Given the description of an element on the screen output the (x, y) to click on. 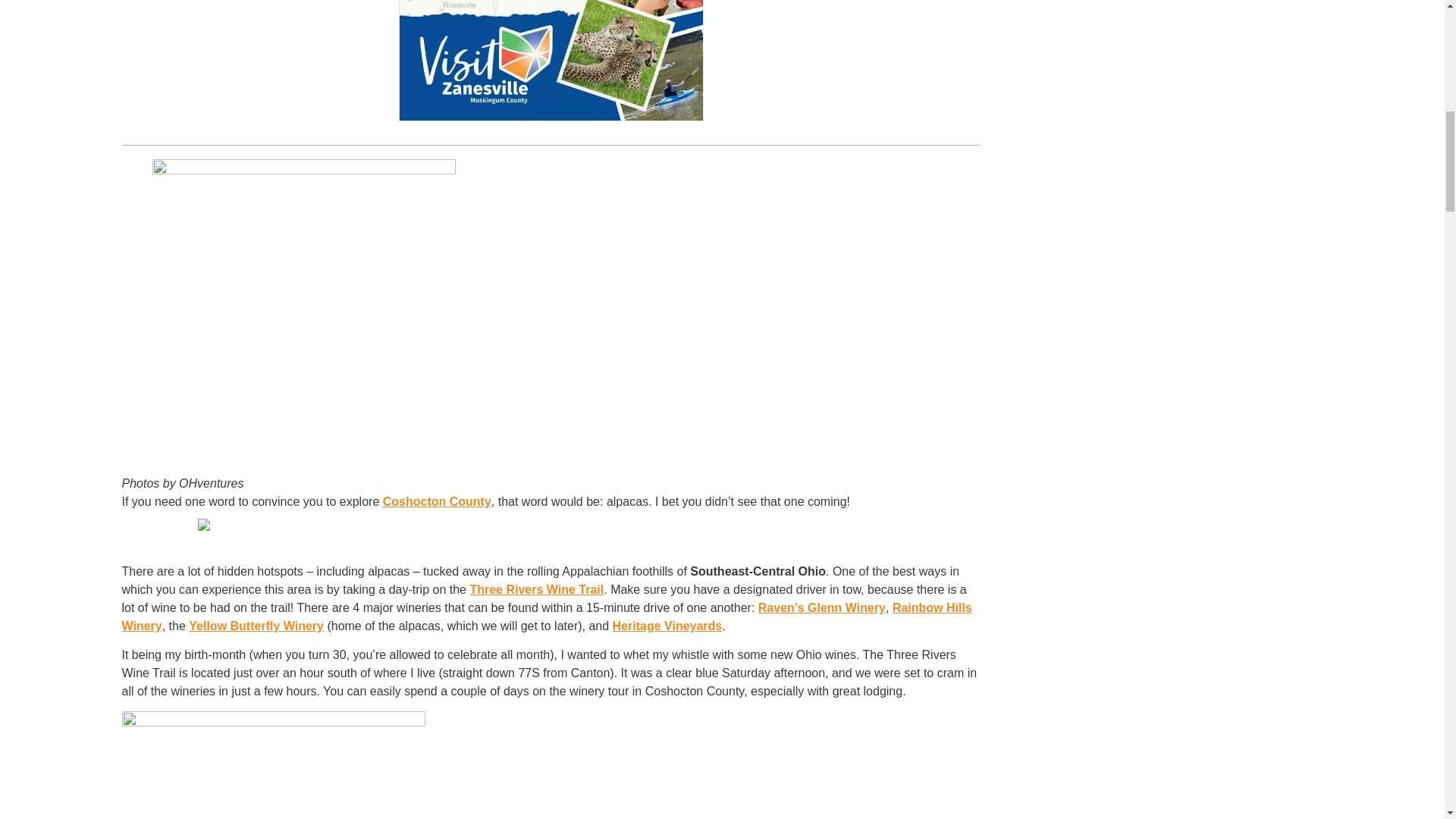
Three Rivers Wine Trail (536, 589)
Rainbow Hills Winery (545, 616)
Coshocton County (437, 501)
